Given the description of an element on the screen output the (x, y) to click on. 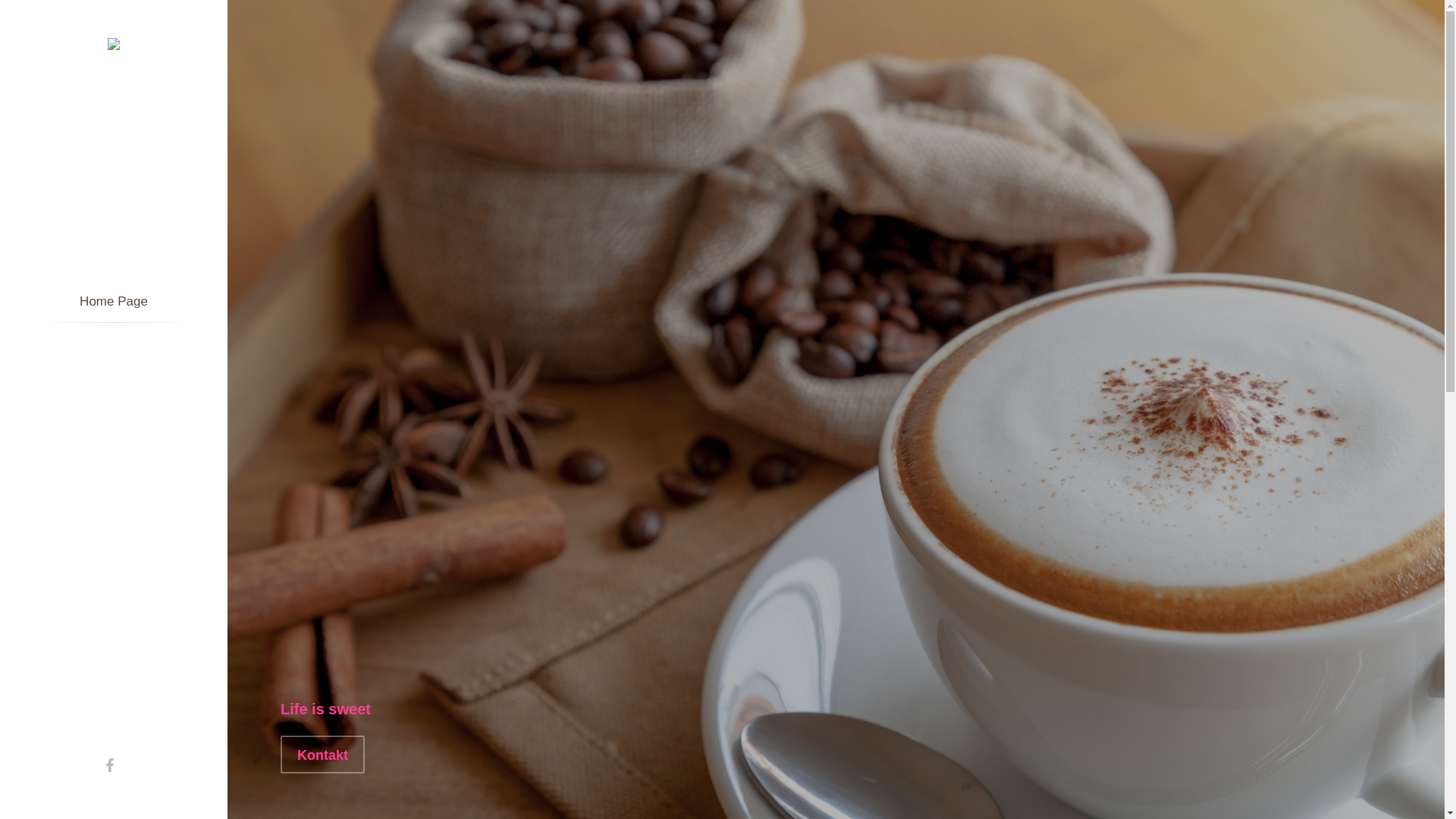
Kontakt Element type: text (322, 754)
Castello Gastro GmbH Element type: hover (113, 43)
Home Page Element type: text (113, 301)
